Given the description of an element on the screen output the (x, y) to click on. 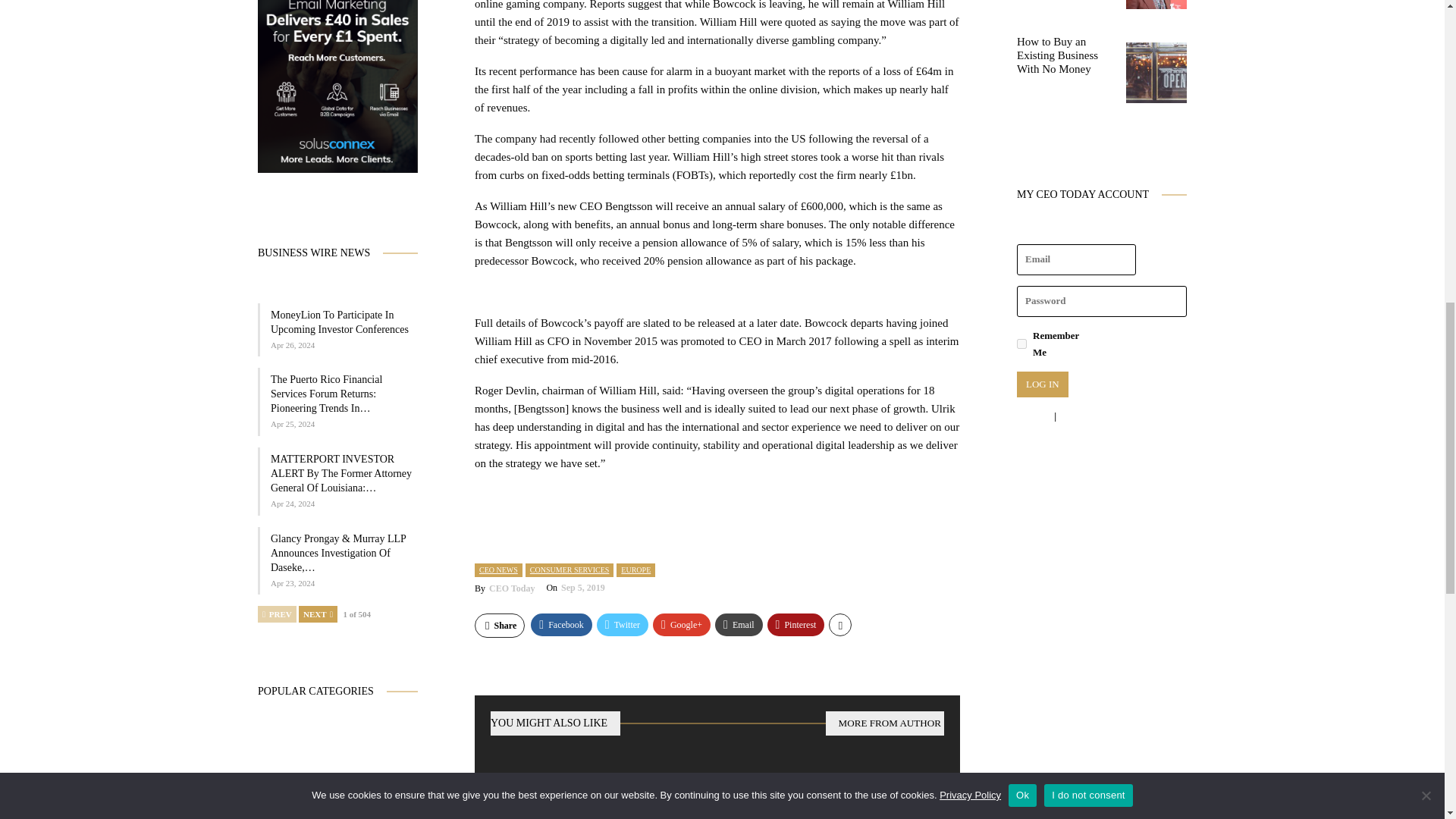
The making of an Olympic athlete (716, 796)
Identifying The Best E-Commerce Model: In-Depth Comparison (872, 796)
Log In (1042, 384)
forever (1021, 343)
